Given the description of an element on the screen output the (x, y) to click on. 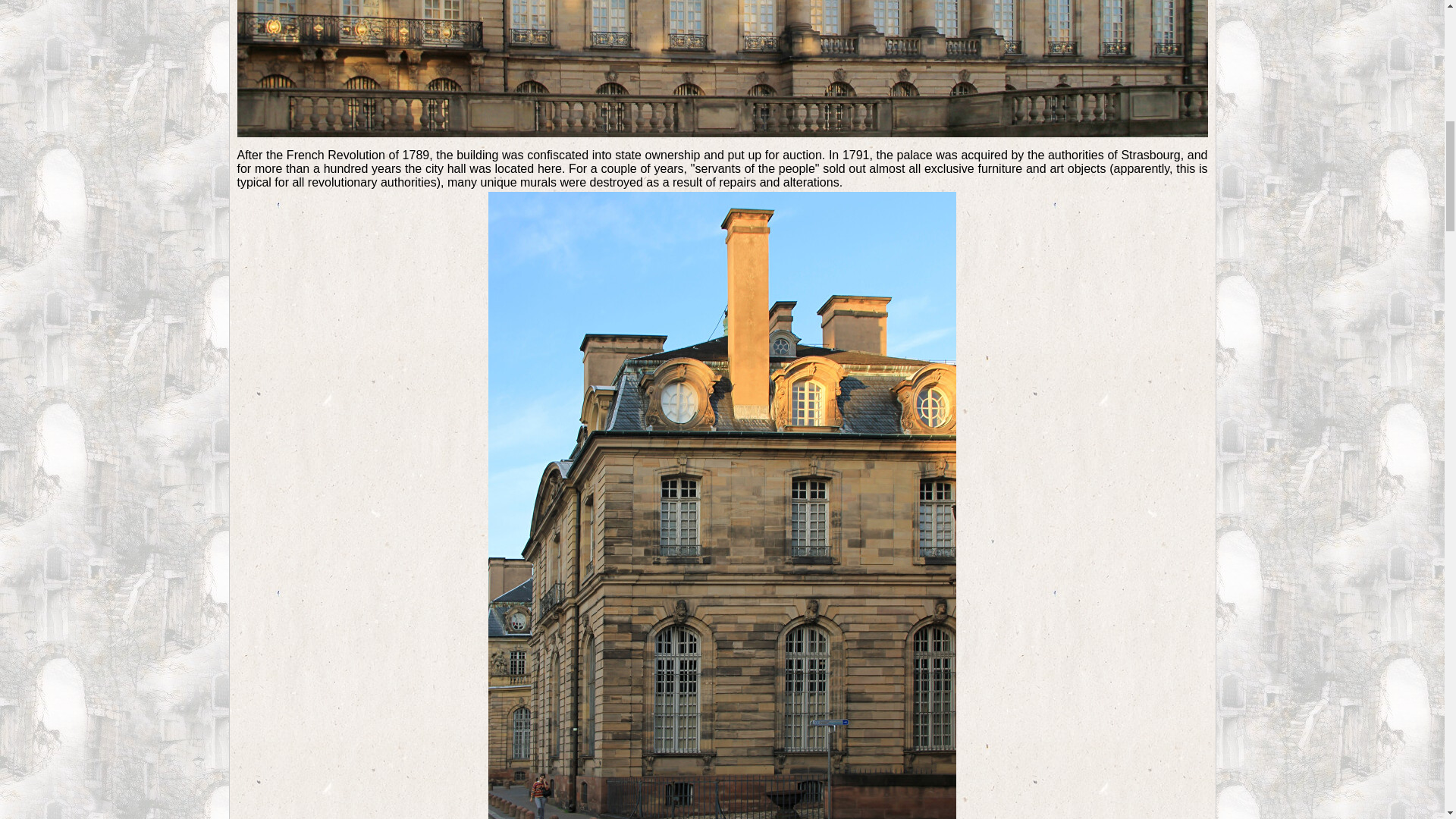
Palais Rohan (721, 68)
